Given the description of an element on the screen output the (x, y) to click on. 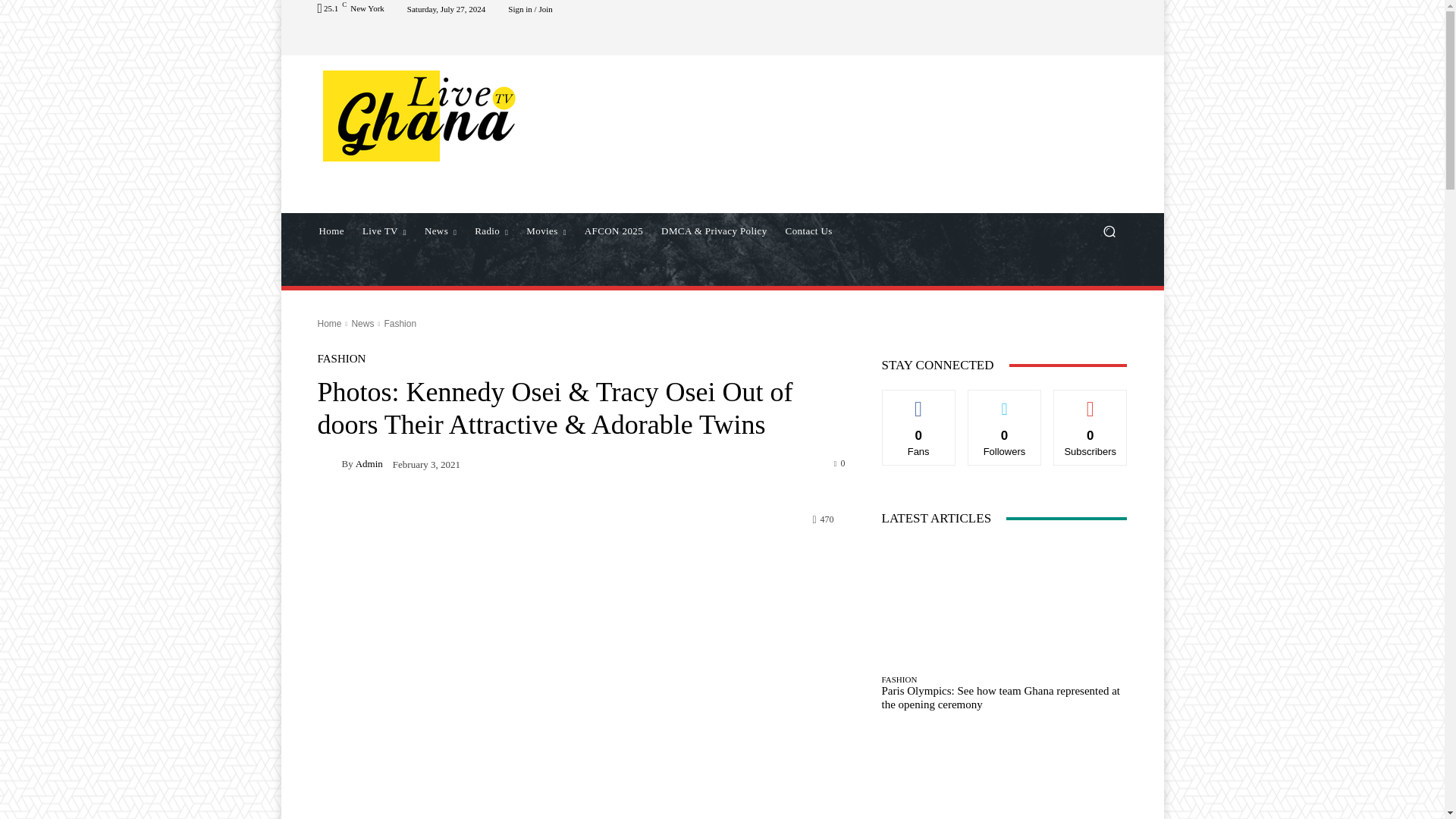
View all posts in Fashion (400, 323)
View all posts in News (362, 323)
admin (328, 463)
